Given the description of an element on the screen output the (x, y) to click on. 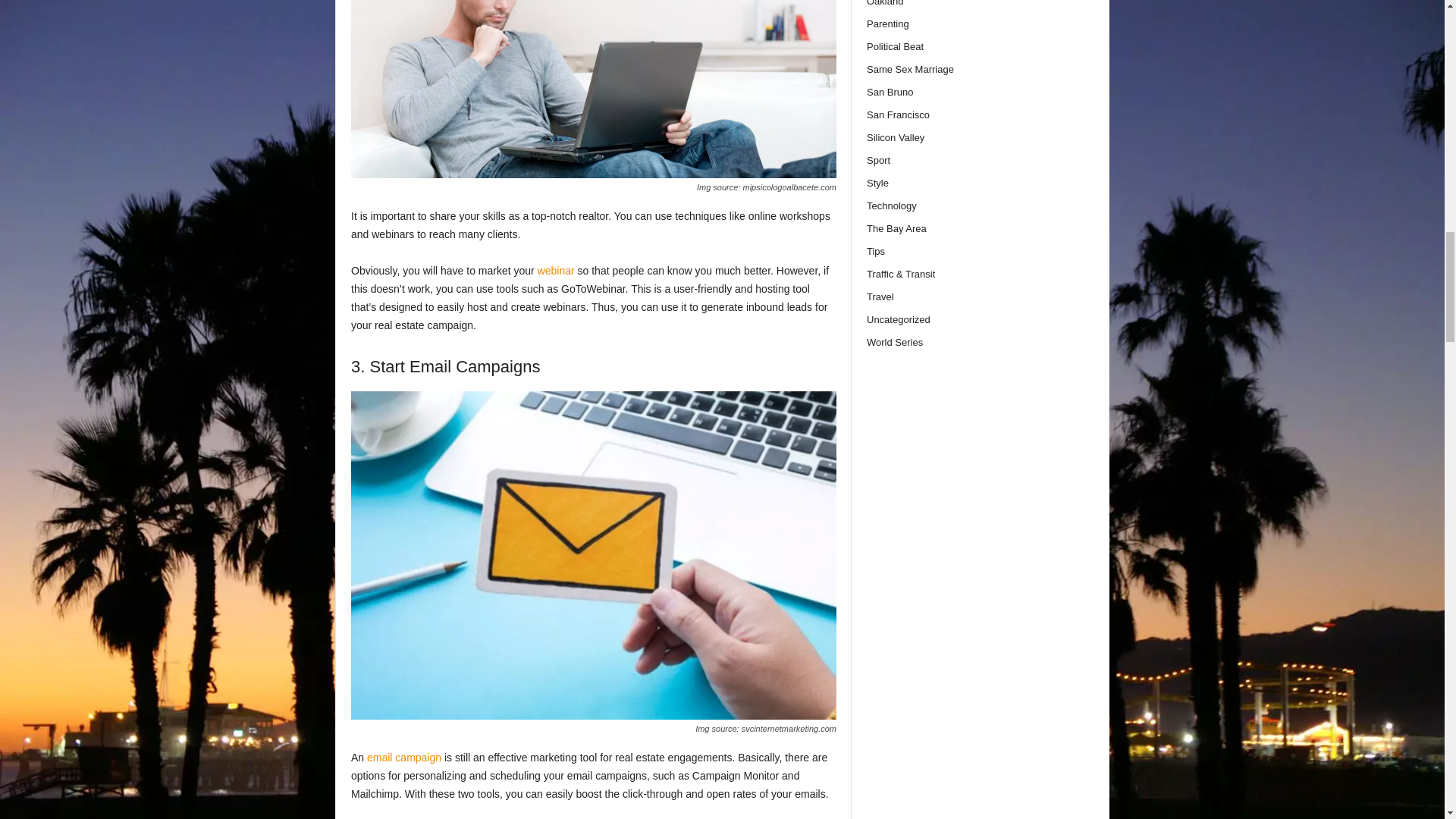
email campaign (403, 757)
webinar (556, 270)
